Given the description of an element on the screen output the (x, y) to click on. 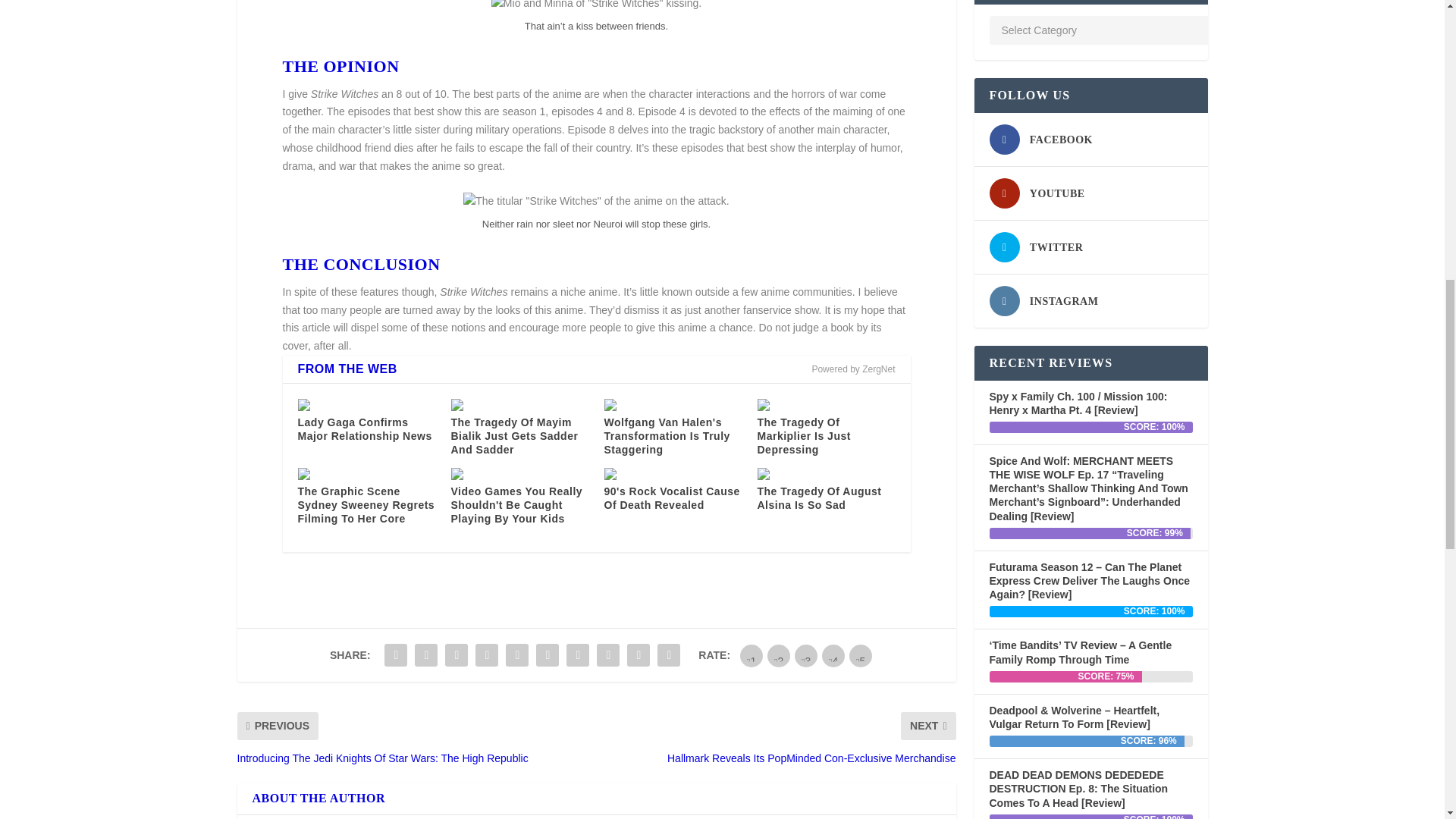
bad (750, 655)
